Given the description of an element on the screen output the (x, y) to click on. 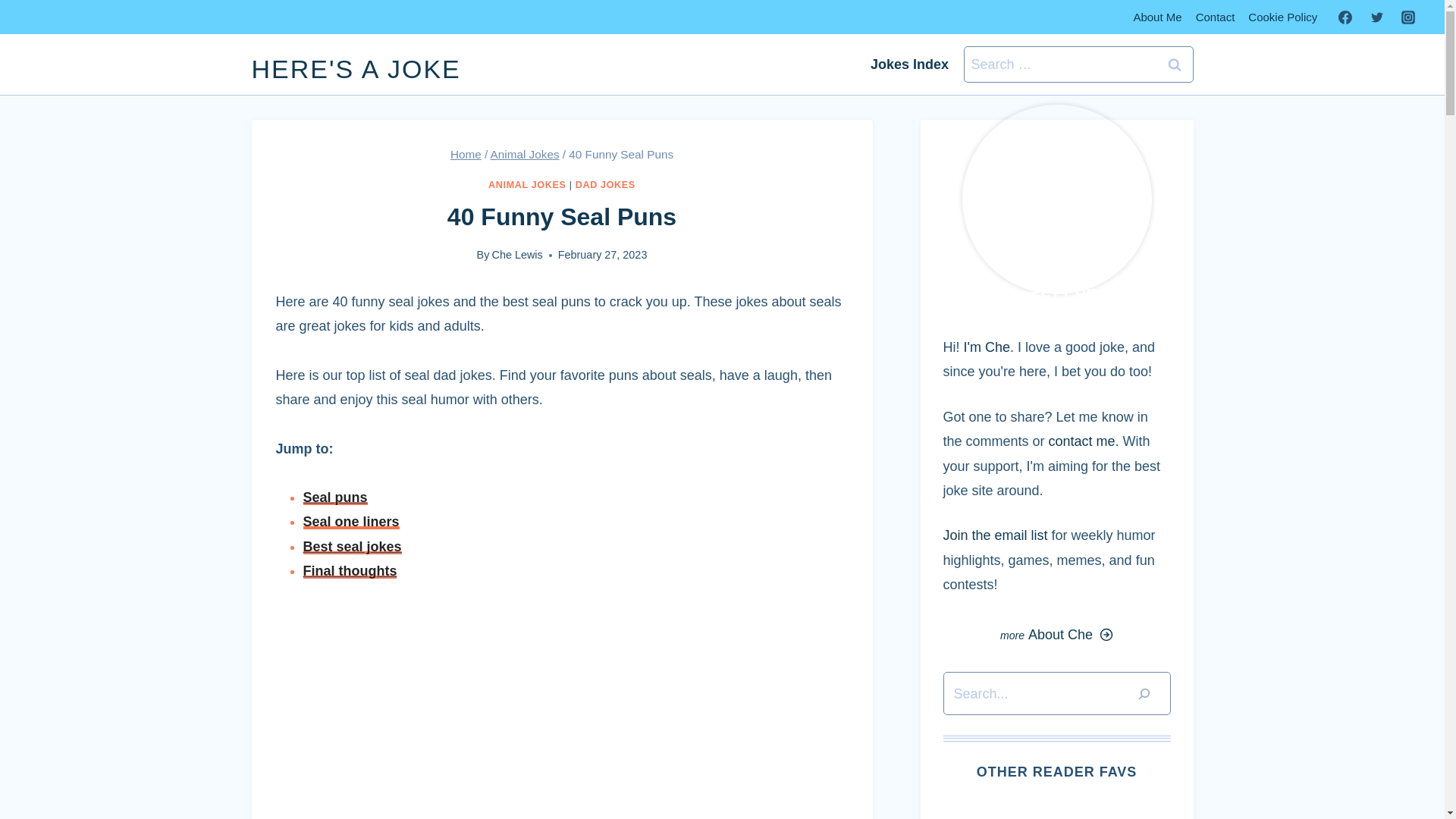
Final thoughts (349, 570)
About Me (1156, 17)
Search (1174, 64)
HERE'S A JOKE (356, 68)
Seal one liners (350, 521)
Contact (1215, 17)
Seal puns (335, 497)
ANIMAL JOKES (526, 184)
DAD JOKES (604, 184)
Jokes Index (909, 64)
